Given the description of an element on the screen output the (x, y) to click on. 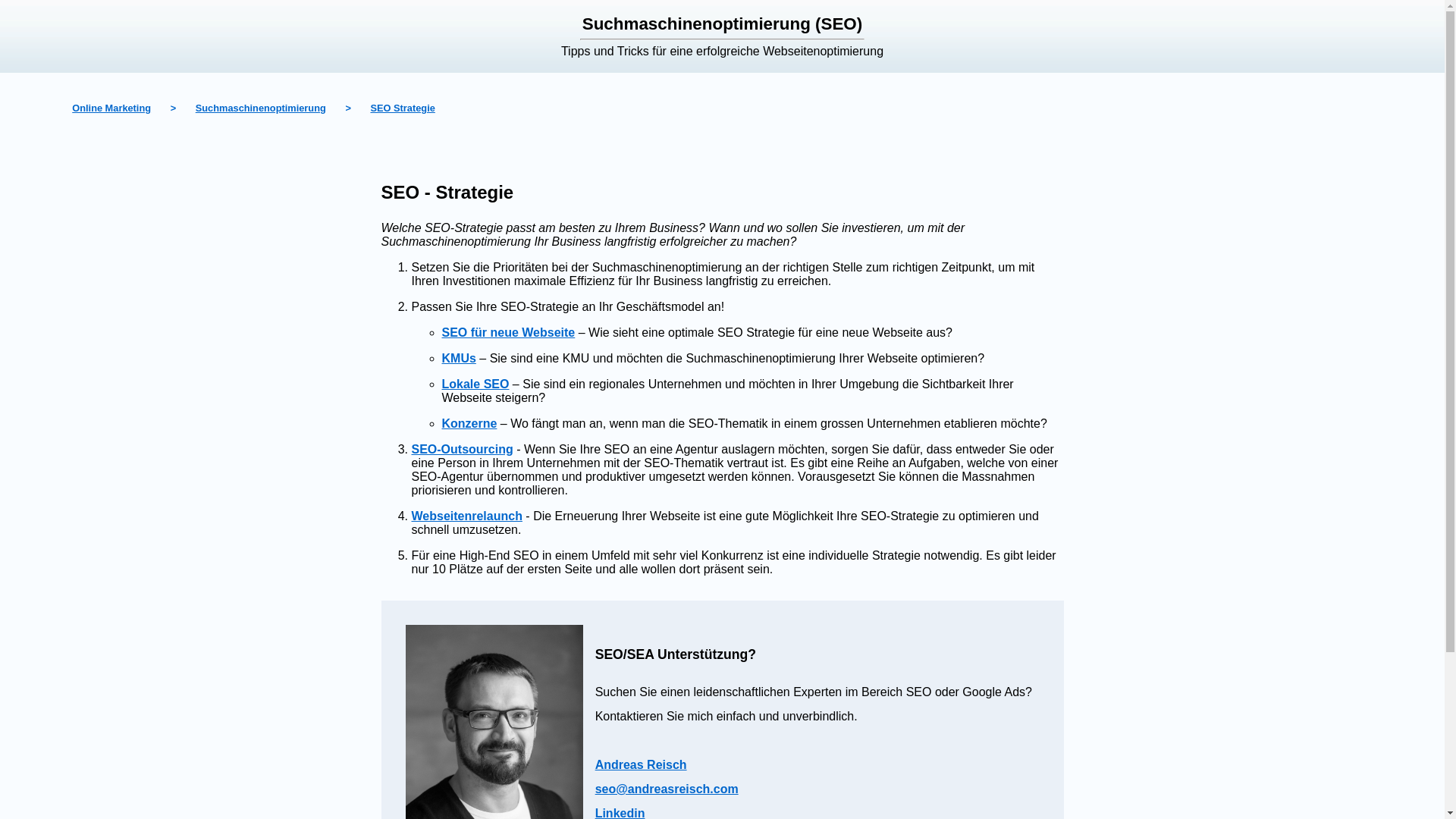
seo@andreasreisch.com Element type: text (666, 788)
SEO-Outsourcing Element type: text (461, 448)
Suchmaschinenoptimierung Element type: text (260, 107)
Lokale SEO Element type: text (474, 383)
Webseitenrelaunch Element type: text (466, 515)
SEO Strategie Element type: text (402, 107)
KMUs Element type: text (458, 357)
Online Marketing Element type: text (111, 107)
Andreas Reisch Element type: text (641, 764)
Konzerne Element type: text (468, 423)
